Given the description of an element on the screen output the (x, y) to click on. 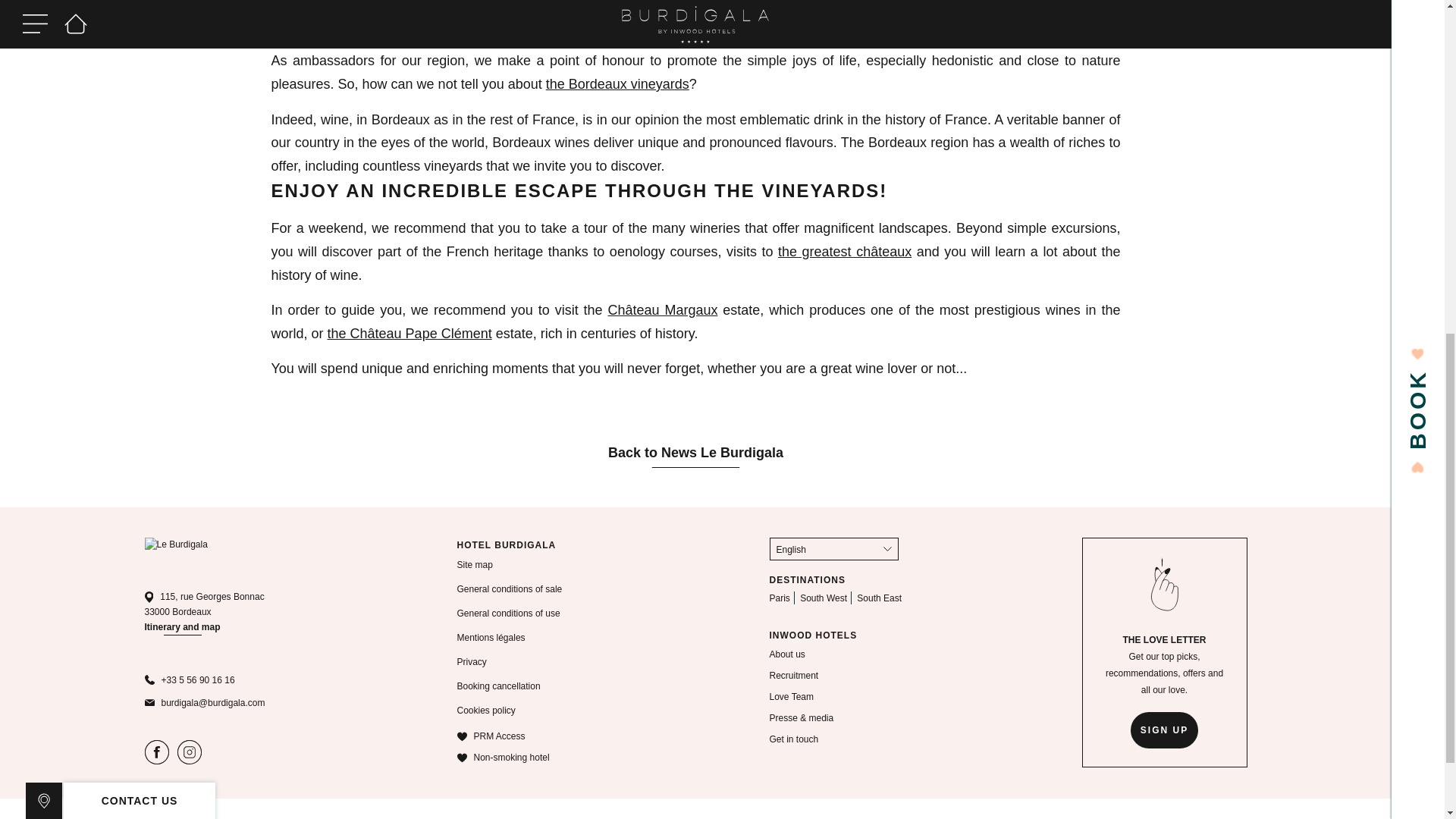
General conditions of sale (509, 588)
Cookies policy (486, 710)
Site map (474, 564)
Privacy (471, 661)
Send (139, 596)
the Bordeaux vineyards (617, 83)
Back to News Le Burdigala (695, 454)
General conditions of use (508, 613)
HOTEL BURDIGALA (506, 544)
CONTACT US (139, 186)
